Given the description of an element on the screen output the (x, y) to click on. 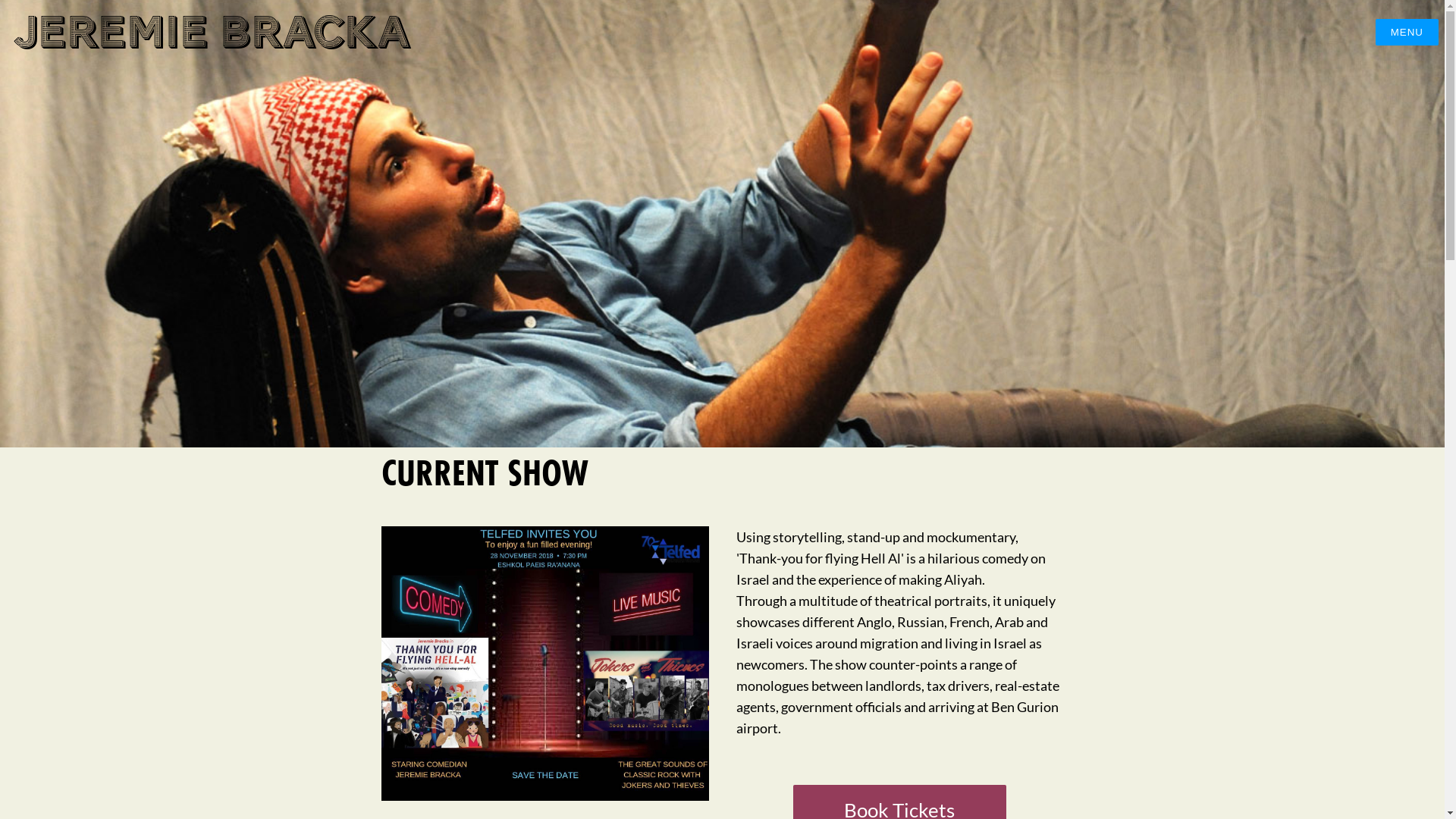
MENU Element type: text (1406, 31)
